Given the description of an element on the screen output the (x, y) to click on. 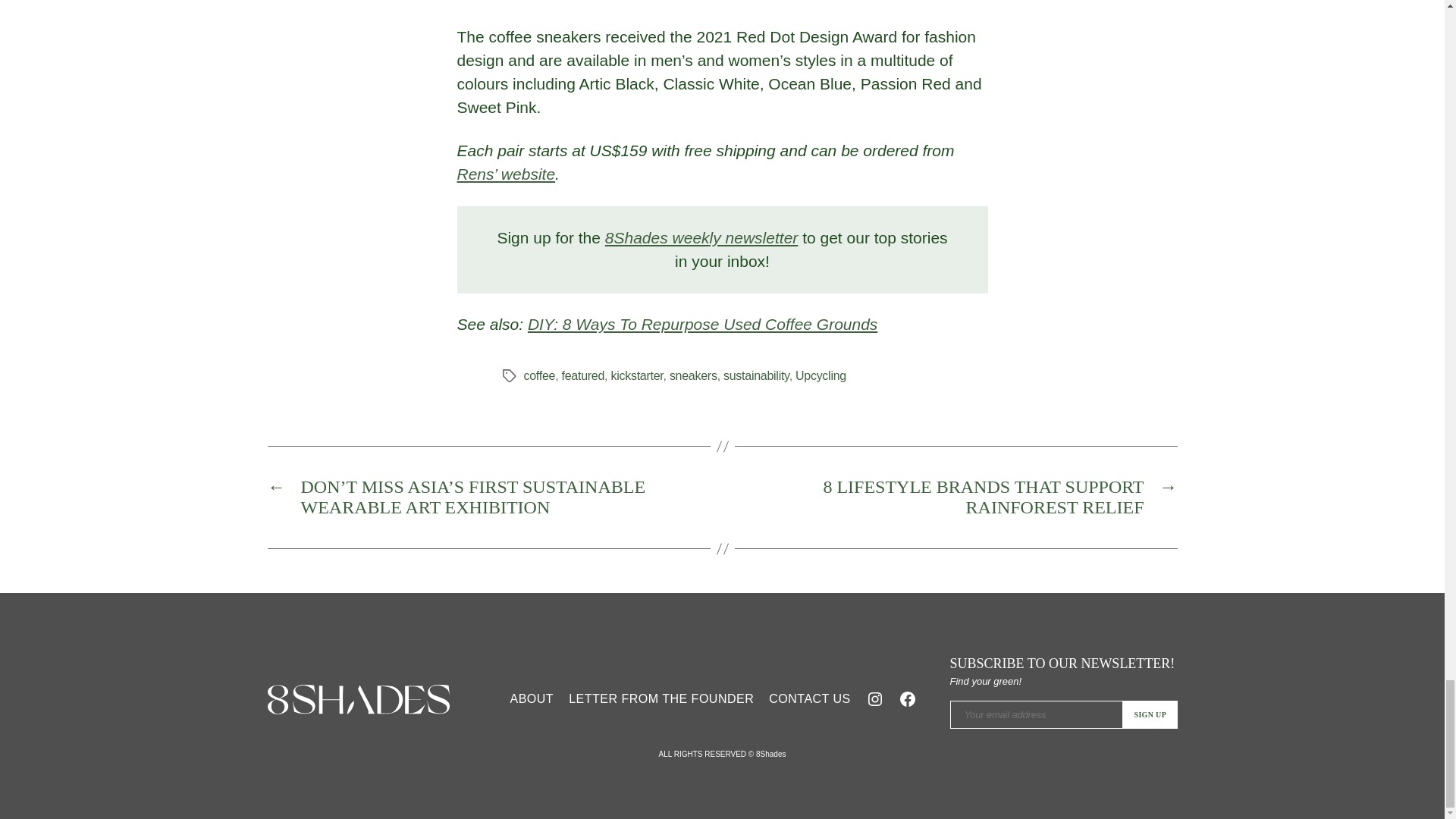
Sign Up (1149, 714)
